Given the description of an element on the screen output the (x, y) to click on. 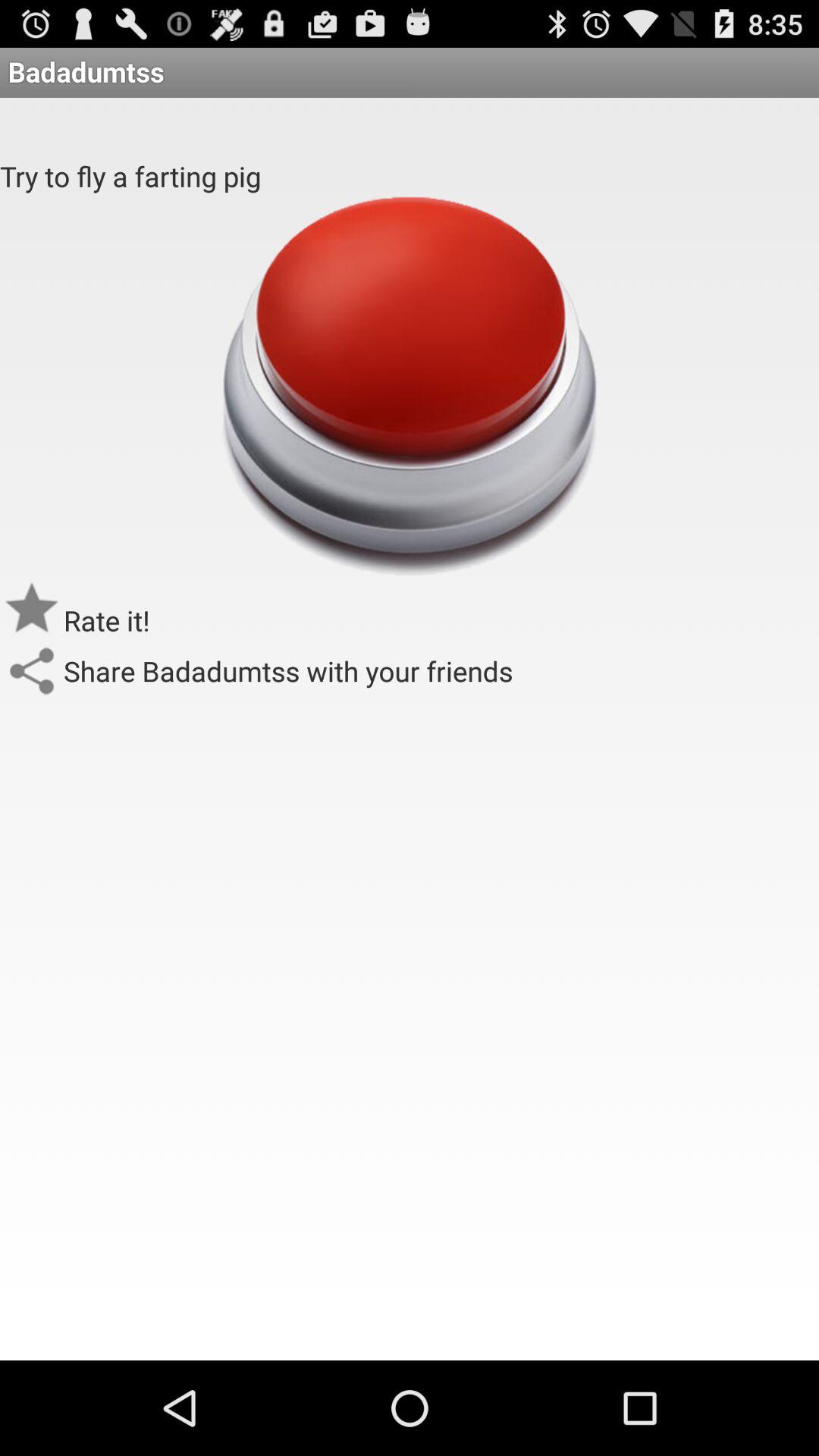
choose the icon below the try to fly app (408, 385)
